Given the description of an element on the screen output the (x, y) to click on. 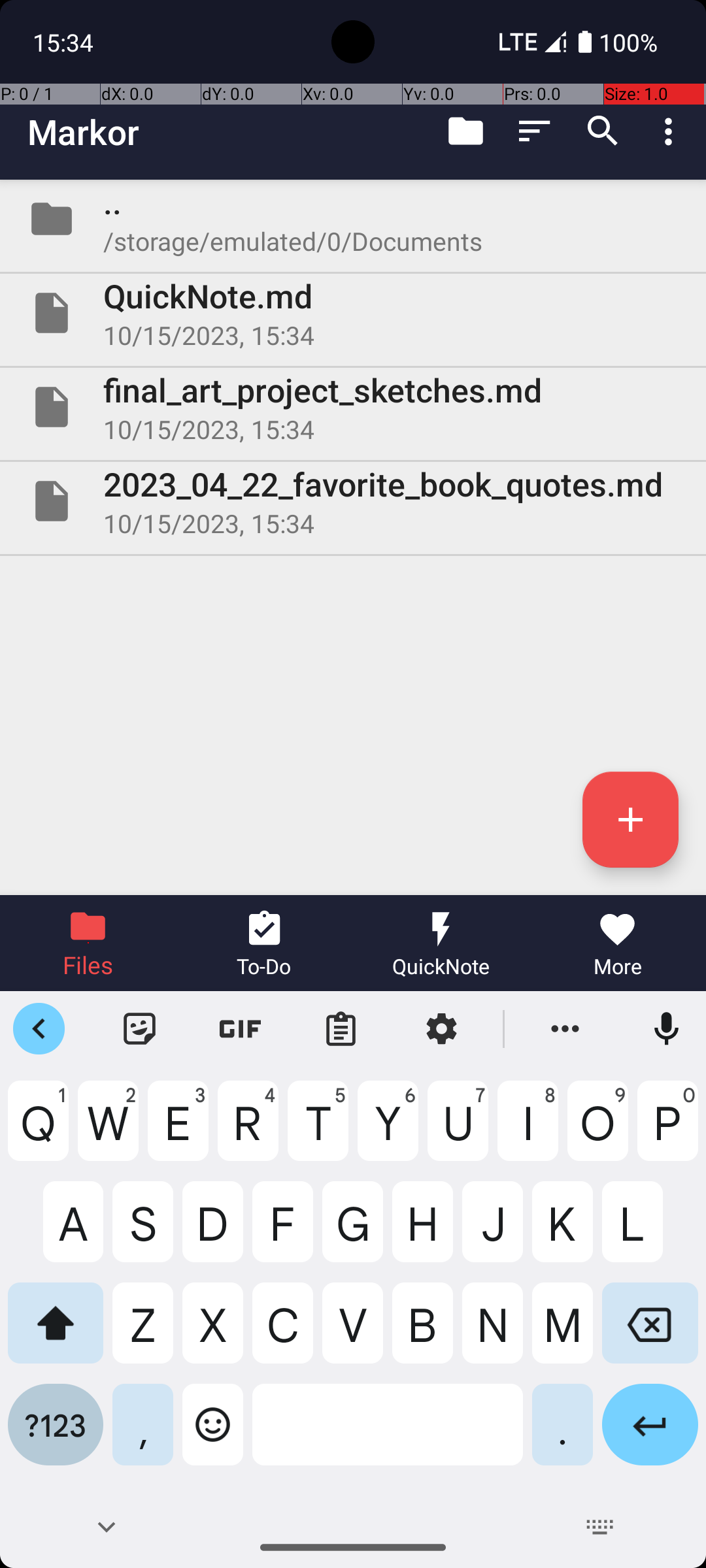
File QuickNote.md 10/15/2023, 15:34 Element type: android.widget.LinearLayout (353, 312)
File final_art_project_sketches.md 10/15/2023, 15:34 Element type: android.widget.LinearLayout (353, 406)
File 2023_04_22_favorite_book_quotes.md  Element type: android.widget.LinearLayout (353, 500)
